Given the description of an element on the screen output the (x, y) to click on. 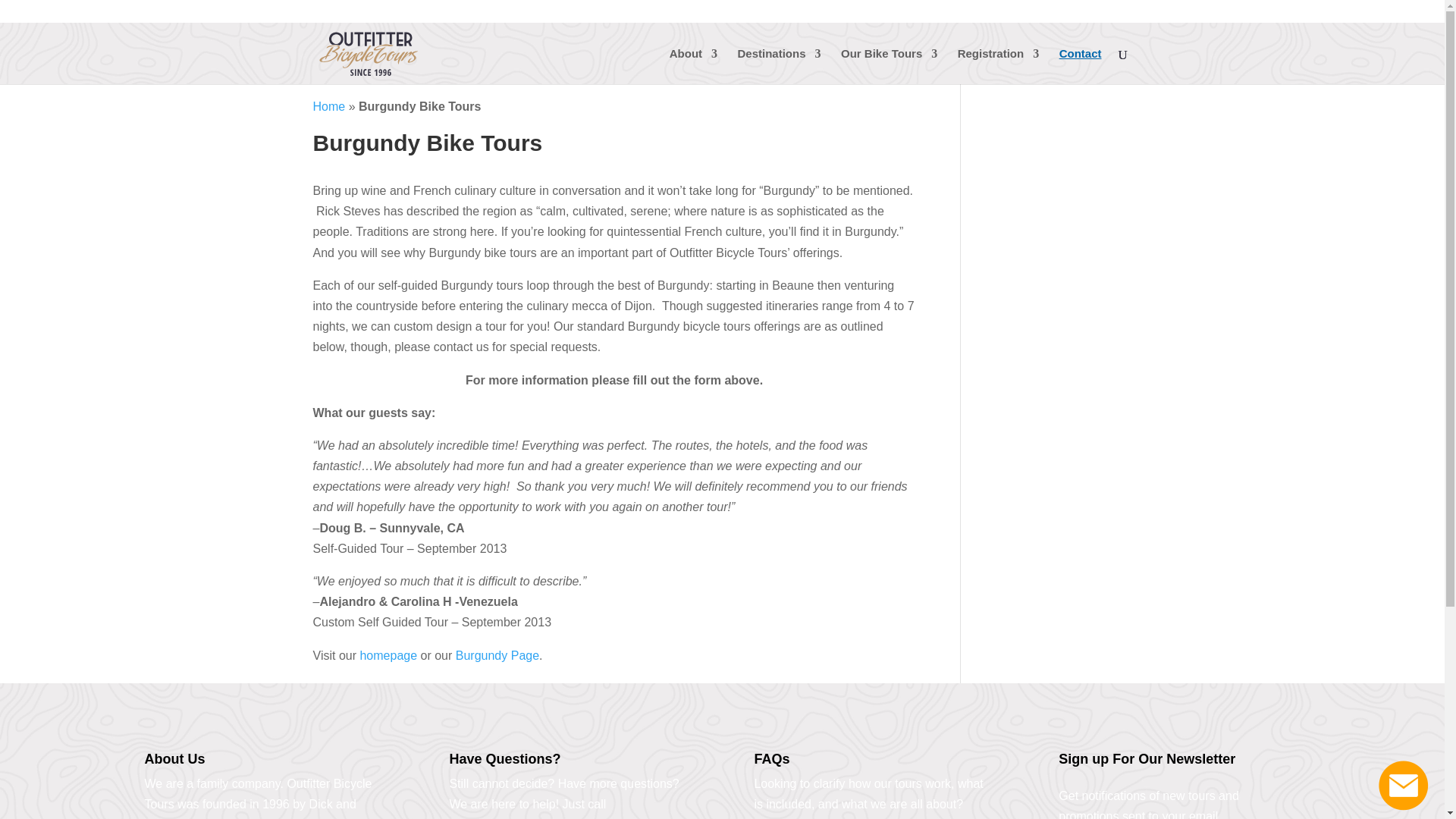
Contact (1080, 66)
Burgundy Bicycle Tours (496, 655)
Destinations (779, 66)
homepage (387, 655)
Our Bike Tours (889, 66)
Registration (998, 66)
Burgundy Page (496, 655)
Outfitter Bicycle Tours (387, 655)
About (693, 66)
Home (329, 106)
